Given the description of an element on the screen output the (x, y) to click on. 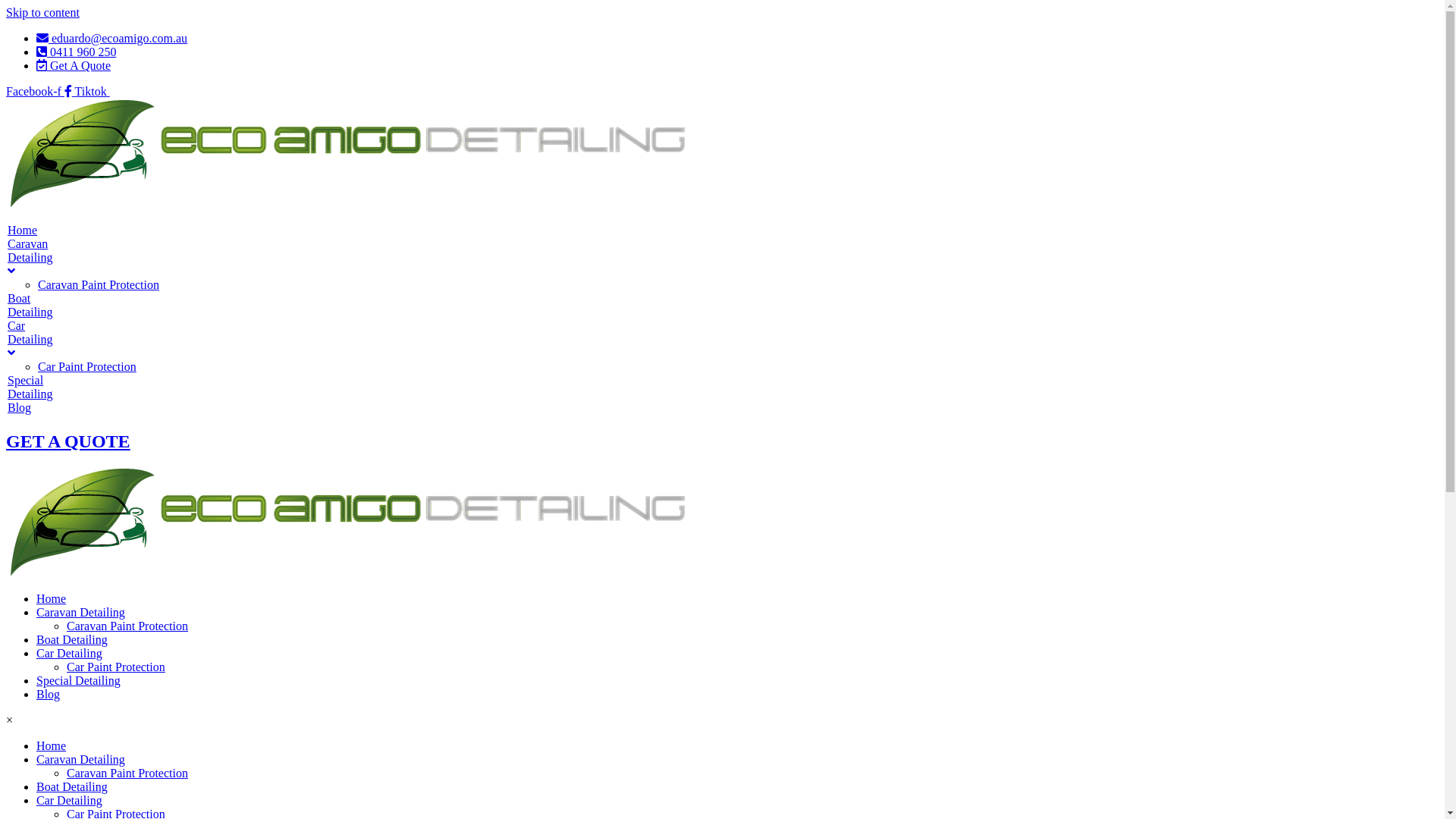
Car Detailing Element type: text (69, 799)
Special Detailing Element type: text (78, 680)
Blog Element type: text (47, 693)
Home Element type: text (50, 598)
Caravan Detailing Element type: text (80, 611)
0411 960 250 Element type: text (76, 51)
Boat Detailing Element type: text (35, 305)
eduardo@ecoamigo.com.au Element type: text (111, 37)
Special Detailing Element type: text (35, 387)
Boat Detailing Element type: text (71, 786)
Car Paint Protection Element type: text (115, 666)
Car Paint Protection Element type: text (113, 366)
Car Detailing Element type: text (69, 652)
Caravan Detailing Element type: text (35, 257)
GET A QUOTE Element type: text (68, 441)
Home Element type: text (50, 745)
Facebook-f Element type: text (40, 90)
Home Element type: text (35, 230)
Get A Quote Element type: text (73, 65)
Blog Element type: text (35, 407)
Boat Detailing Element type: text (71, 639)
Caravan Paint Protection Element type: text (127, 772)
Car Detailing Element type: text (35, 339)
Caravan Paint Protection Element type: text (113, 284)
Skip to content Element type: text (42, 12)
Tiktok Element type: text (92, 90)
Caravan Detailing Element type: text (80, 759)
Caravan Paint Protection Element type: text (127, 625)
